Given the description of an element on the screen output the (x, y) to click on. 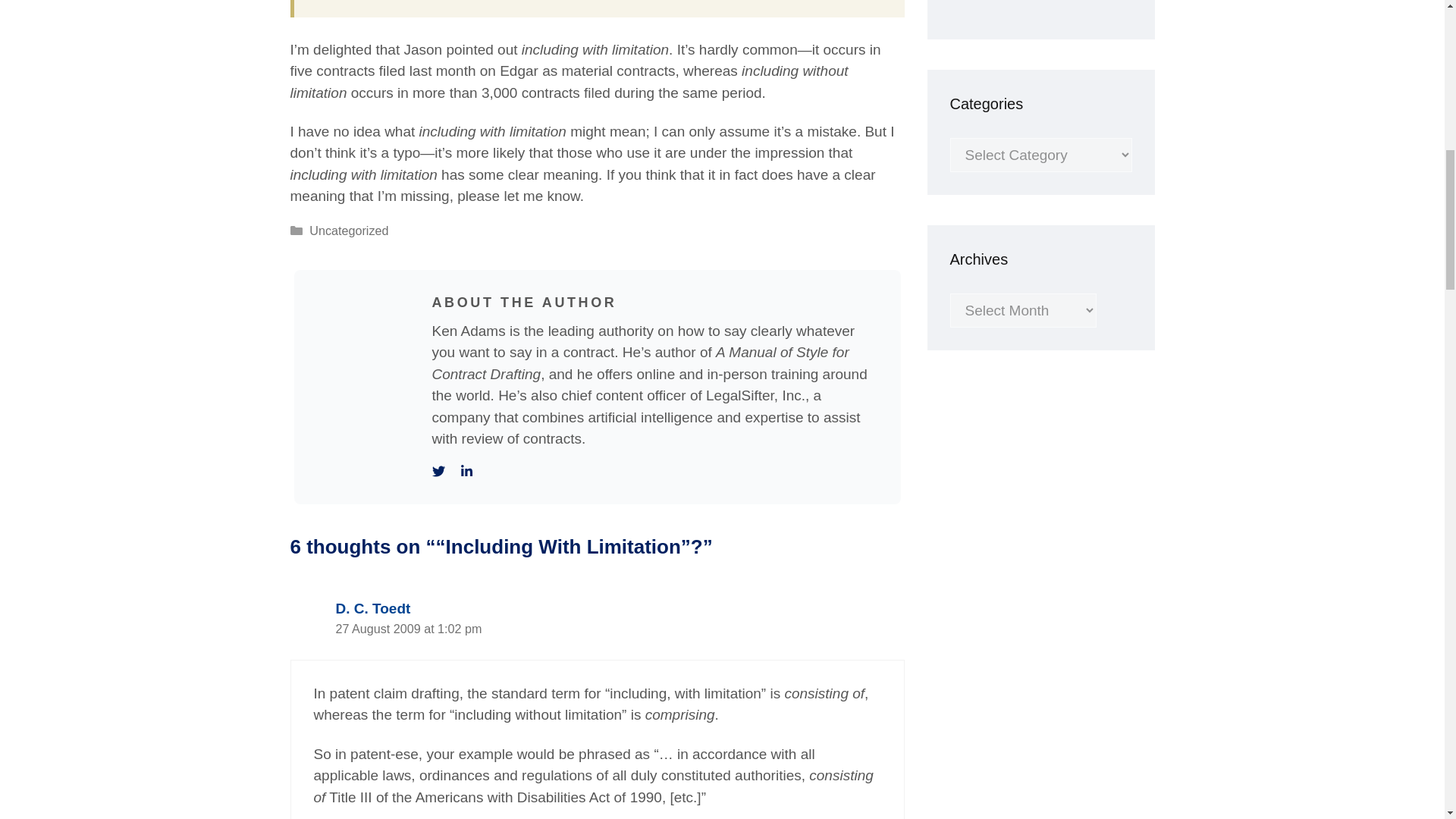
Uncategorized (348, 230)
27 August 2009 at 1:02 pm (407, 628)
Scroll back to top (1406, 720)
D. C. Toedt (372, 608)
